Given the description of an element on the screen output the (x, y) to click on. 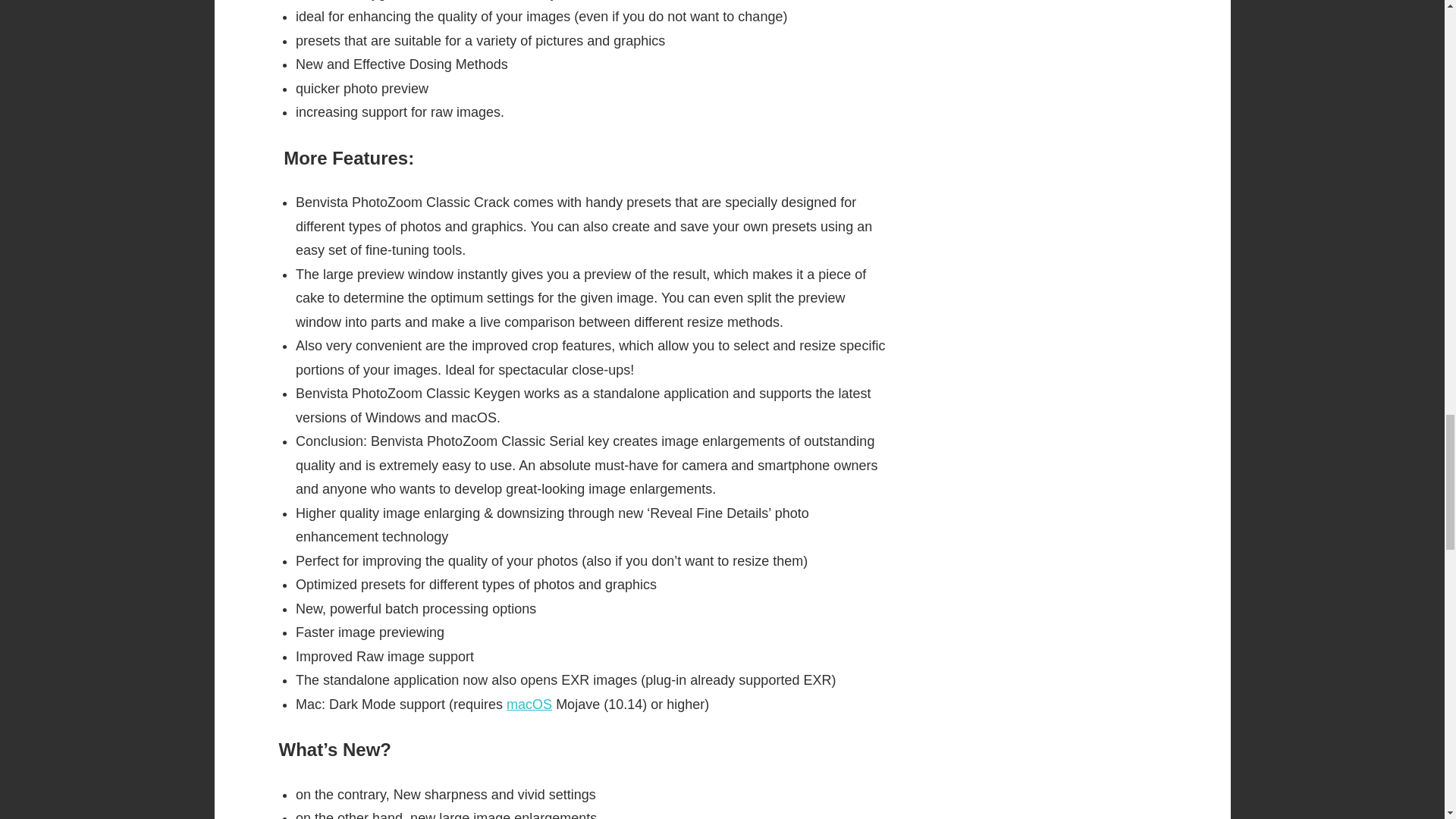
macOS (528, 703)
